Given the description of an element on the screen output the (x, y) to click on. 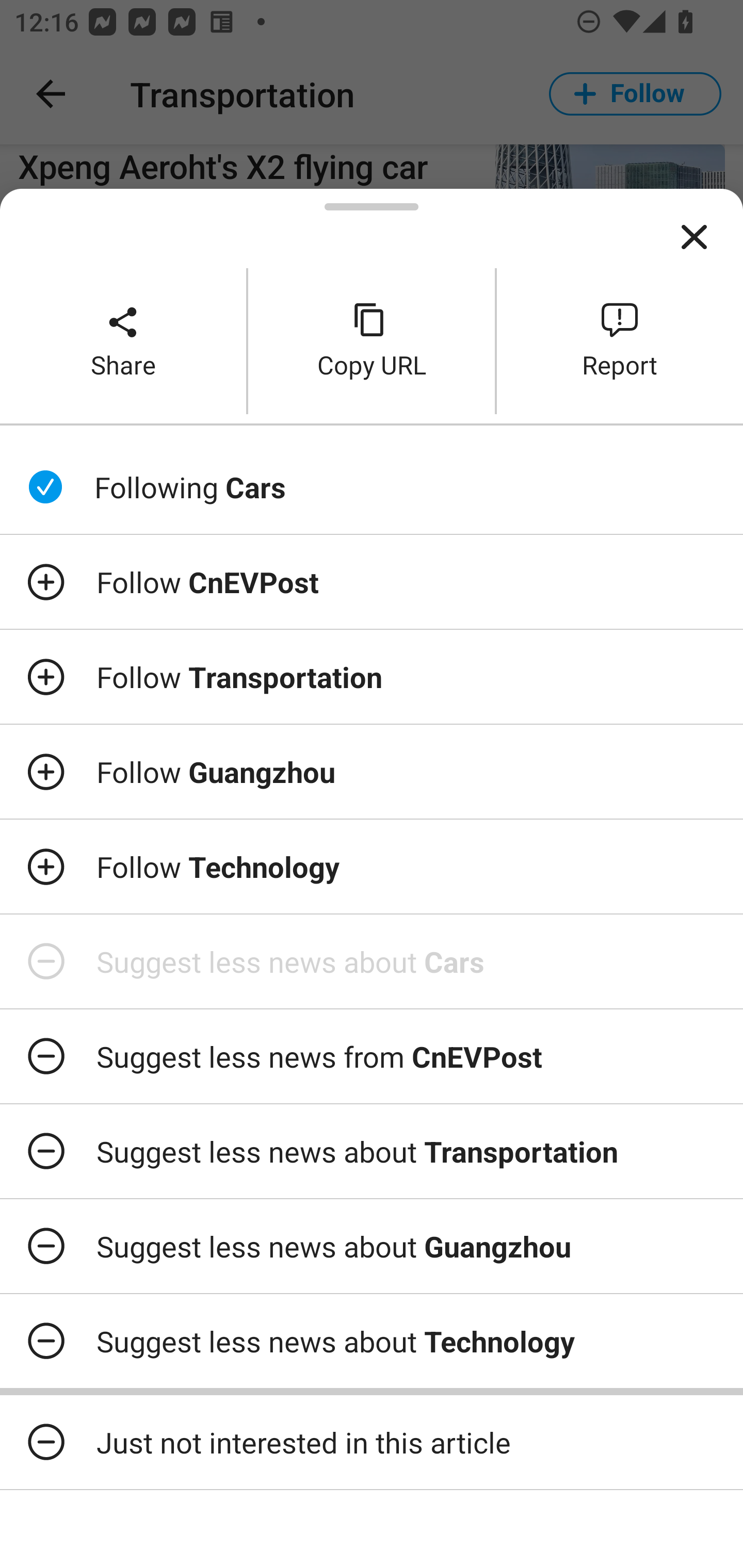
Close (694, 237)
Share (122, 340)
Copy URL (371, 340)
Report (620, 340)
Following Cars (371, 486)
Follow CnEVPost (371, 581)
Follow Transportation (371, 677)
Follow Guangzhou (371, 771)
Follow Technology (371, 867)
Suggest less news from CnEVPost (371, 1056)
Suggest less news about Transportation (371, 1150)
Suggest less news about Guangzhou (371, 1246)
Suggest less news about Technology (371, 1340)
Just not interested in this article (371, 1442)
